Given the description of an element on the screen output the (x, y) to click on. 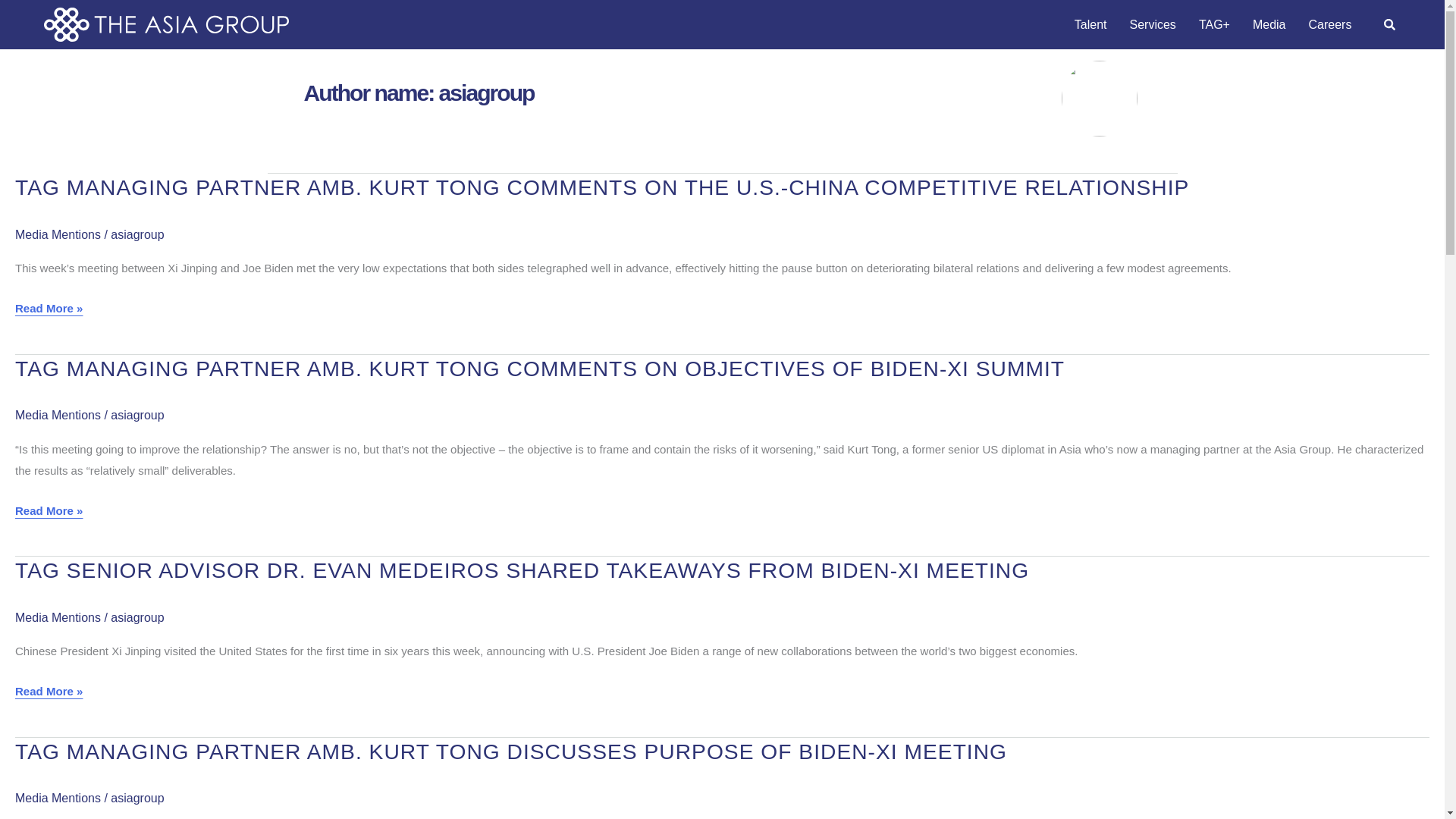
View all posts by asiagroup (136, 414)
Media Mentions (57, 234)
asiagroup (136, 234)
Media Mentions (57, 617)
Media (1269, 23)
View all posts by asiagroup (136, 797)
Services (1153, 23)
